Given the description of an element on the screen output the (x, y) to click on. 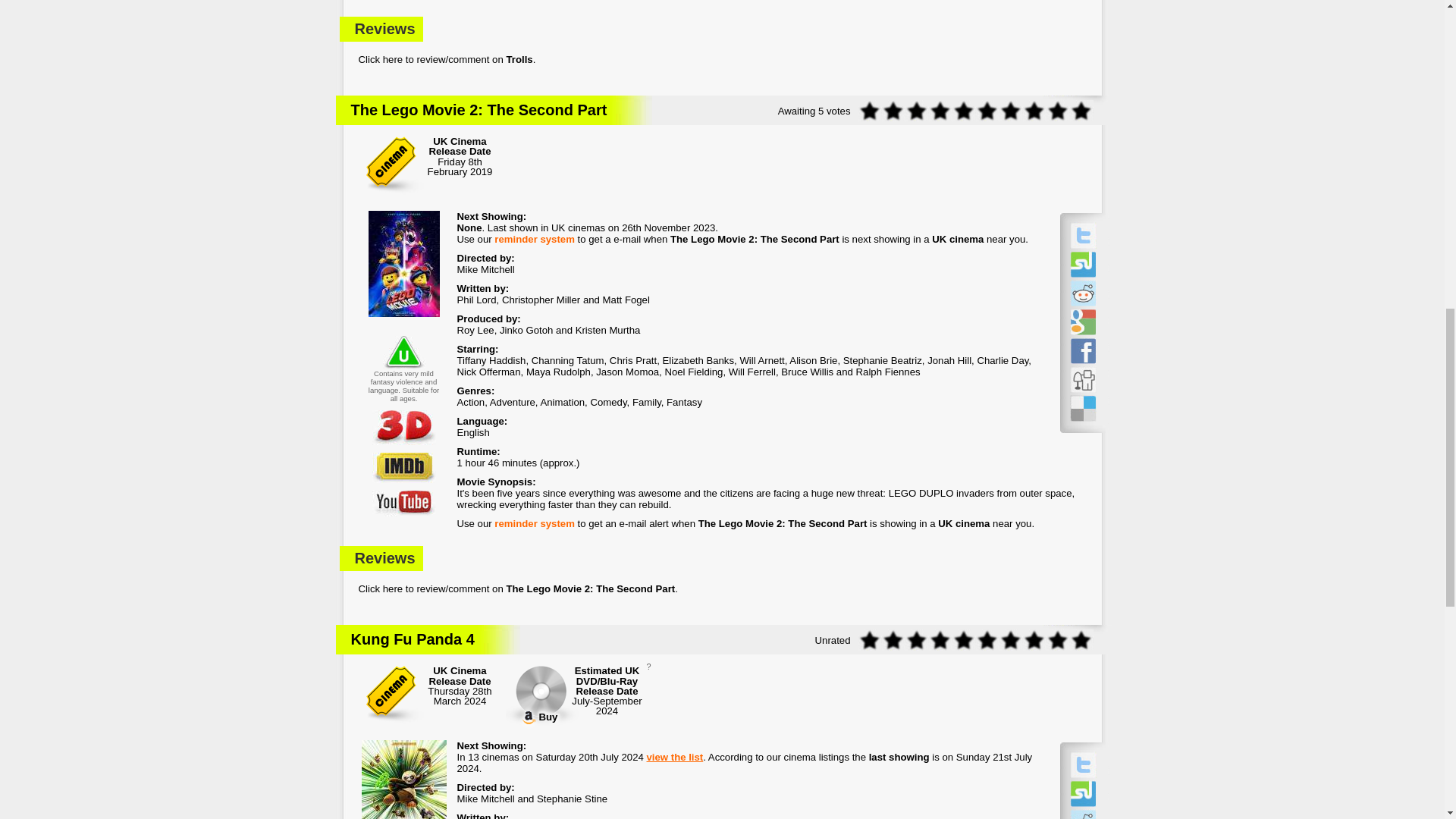
Add your own review for or comment on Trolls (722, 61)
According to our cinema listings database (469, 227)
